Given the description of an element on the screen output the (x, y) to click on. 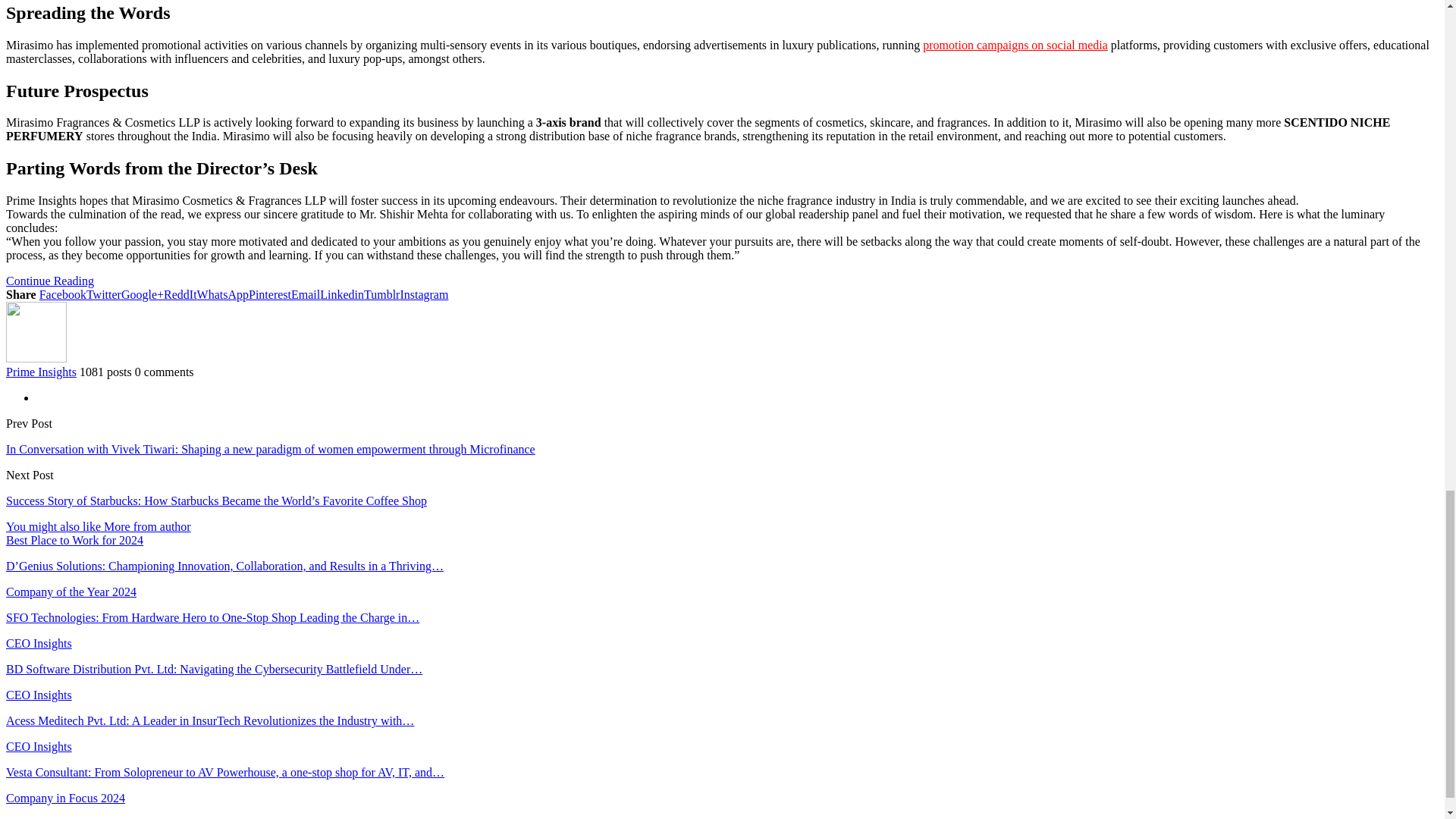
Browse Author Articles (35, 358)
